Given the description of an element on the screen output the (x, y) to click on. 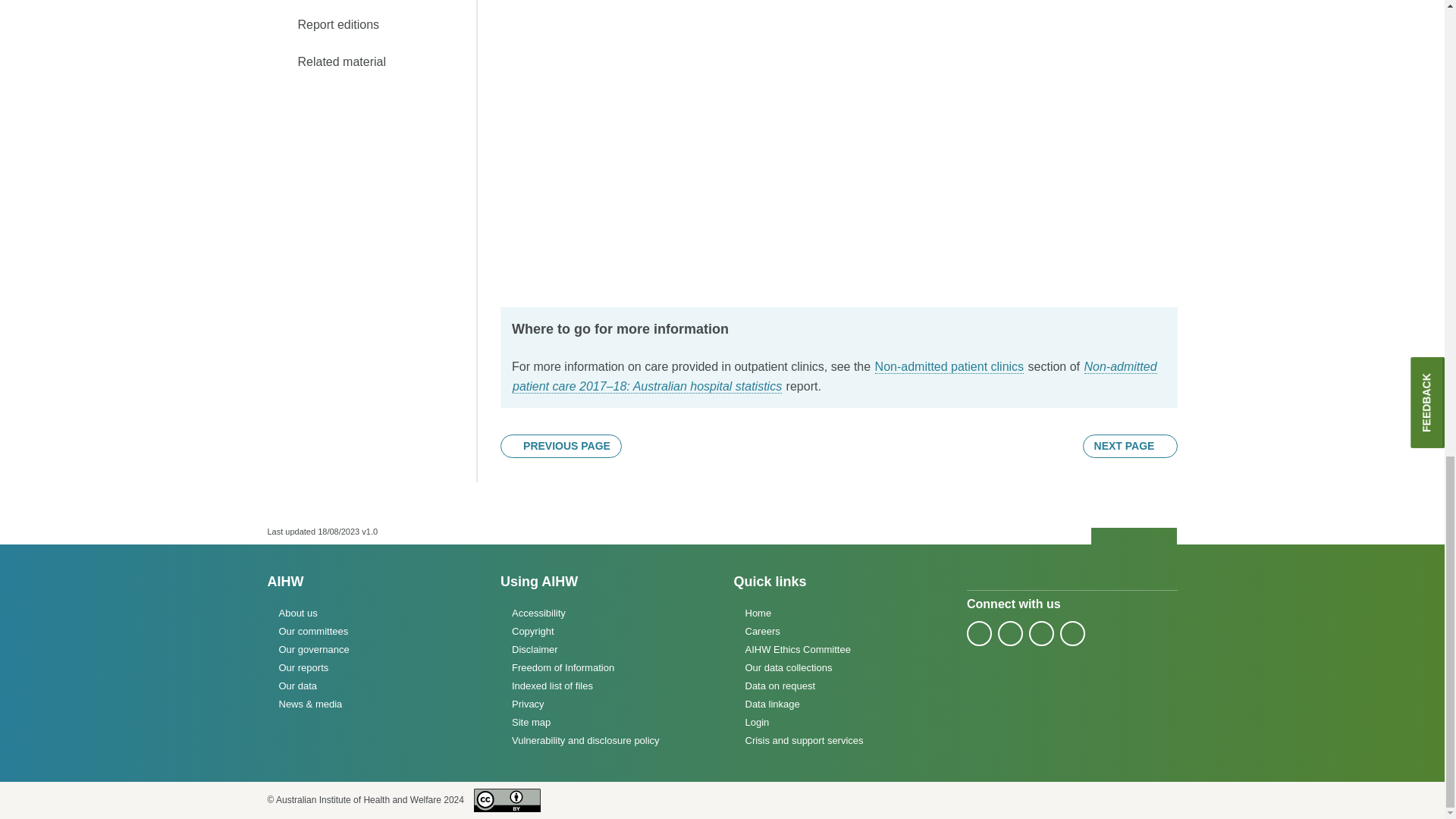
Back to top (1133, 537)
